Given the description of an element on the screen output the (x, y) to click on. 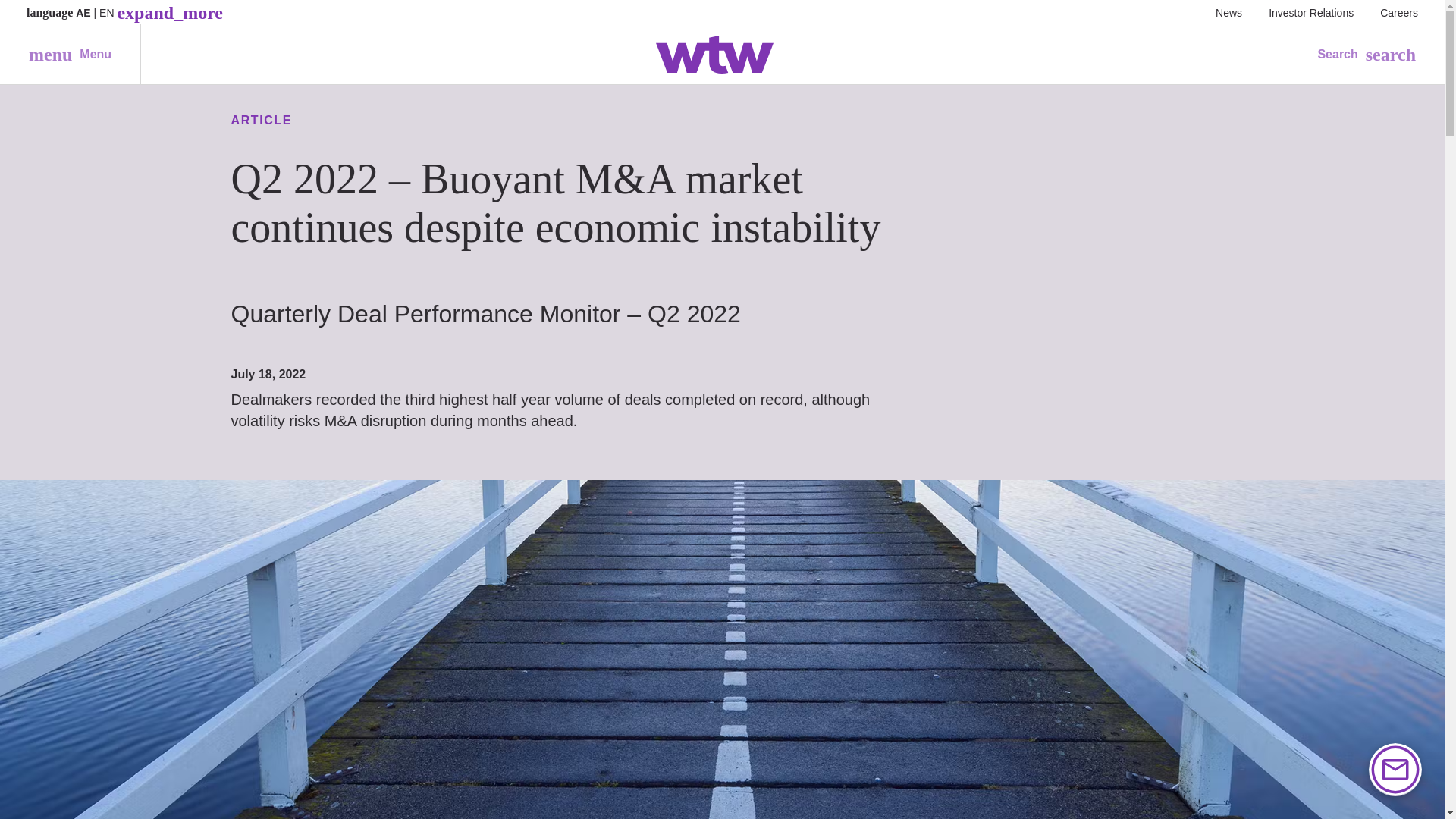
News (1228, 12)
Investor Relations (1311, 12)
Careers (69, 54)
